Given the description of an element on the screen output the (x, y) to click on. 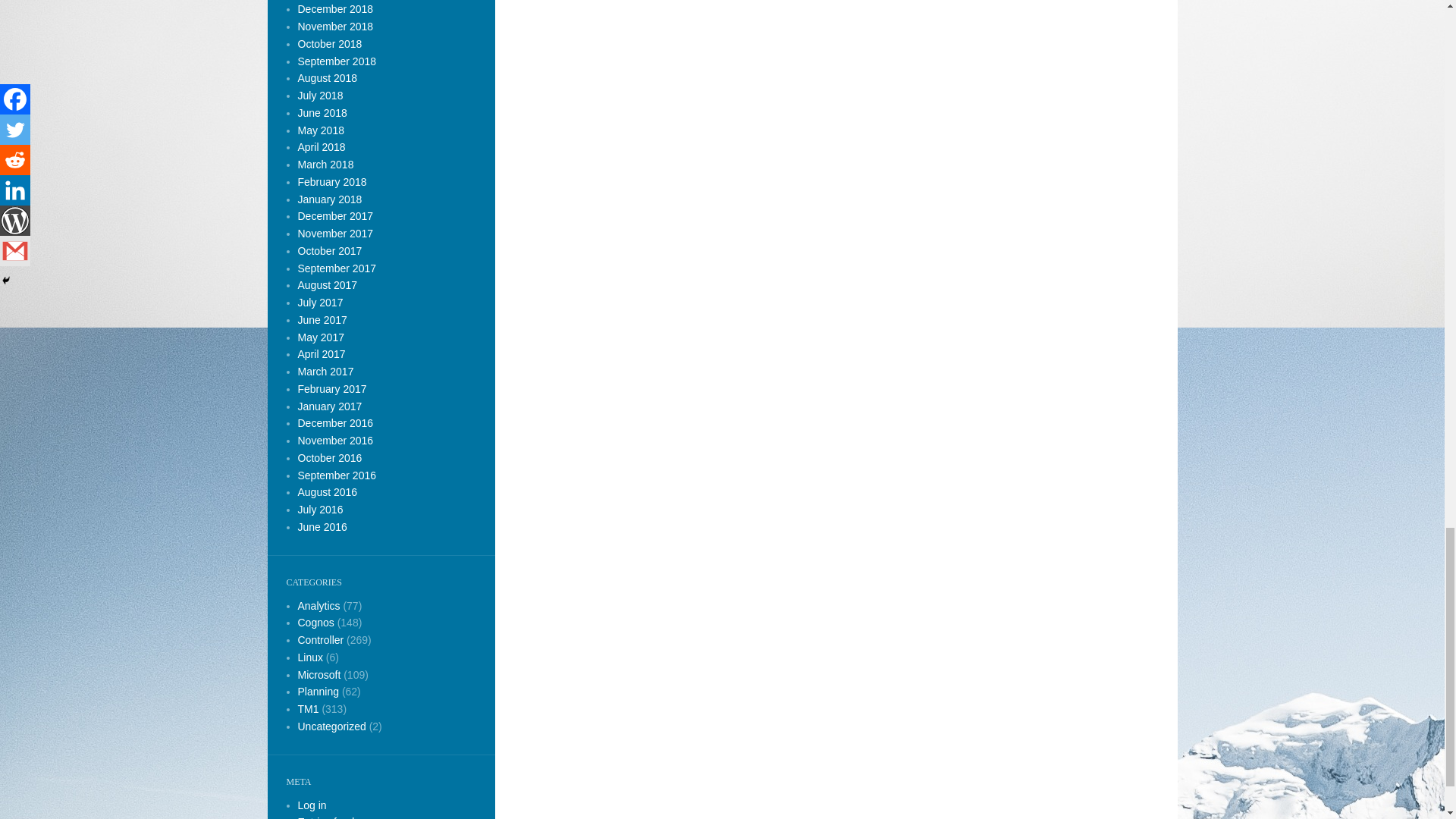
Information about Cognos Planning (318, 691)
IBM Cognos Business Intelligence  (318, 604)
Information about Cognos Controller (320, 639)
Information about Cognos BI (315, 622)
Information about Cognos TM1 (307, 708)
